Given the description of an element on the screen output the (x, y) to click on. 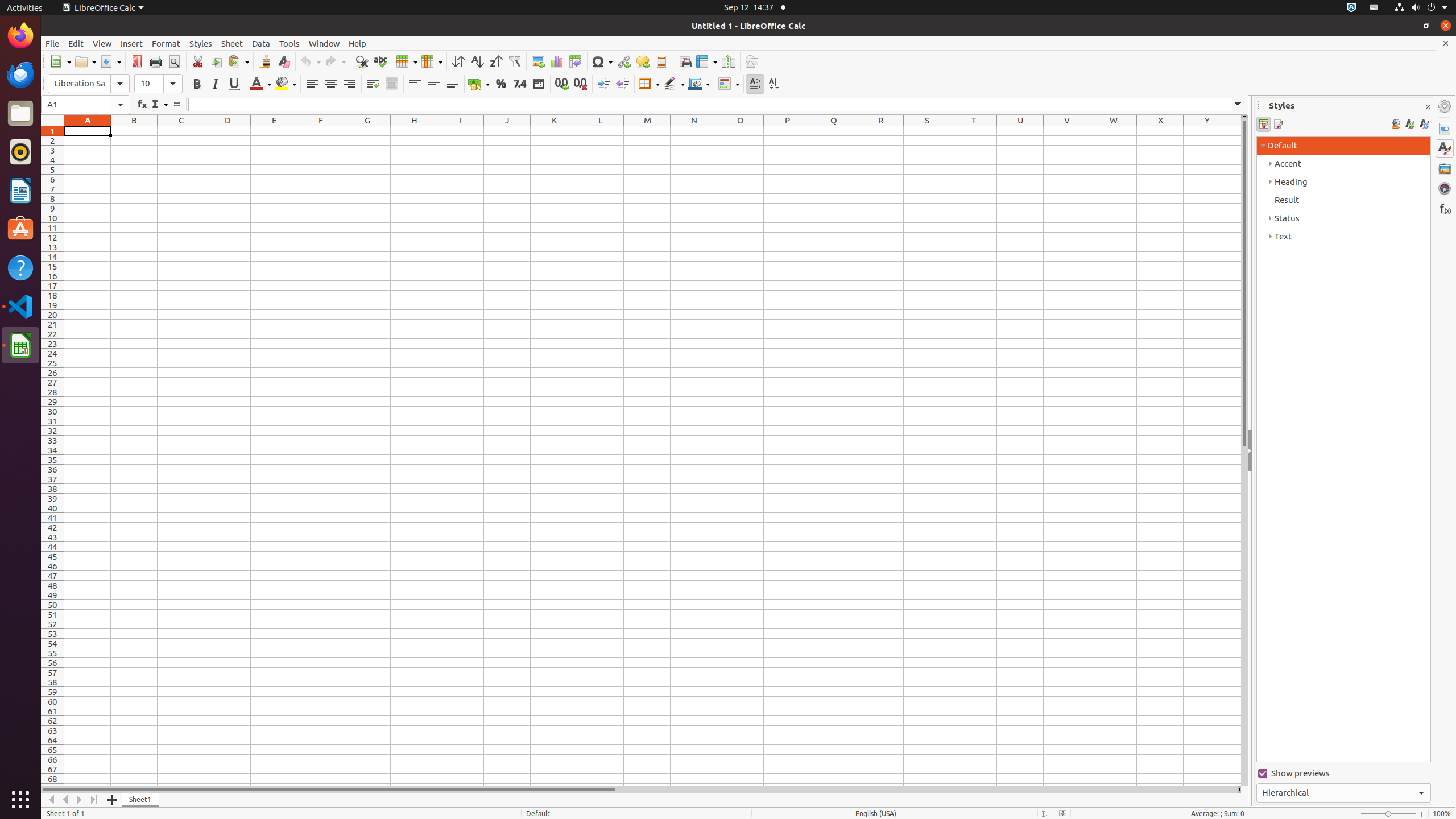
Chart Element type: push-button (556, 61)
U1 Element type: table-cell (1020, 130)
Italic Element type: toggle-button (214, 83)
Move Right Element type: push-button (79, 799)
Show previews Element type: check-box (1343, 773)
